Given the description of an element on the screen output the (x, y) to click on. 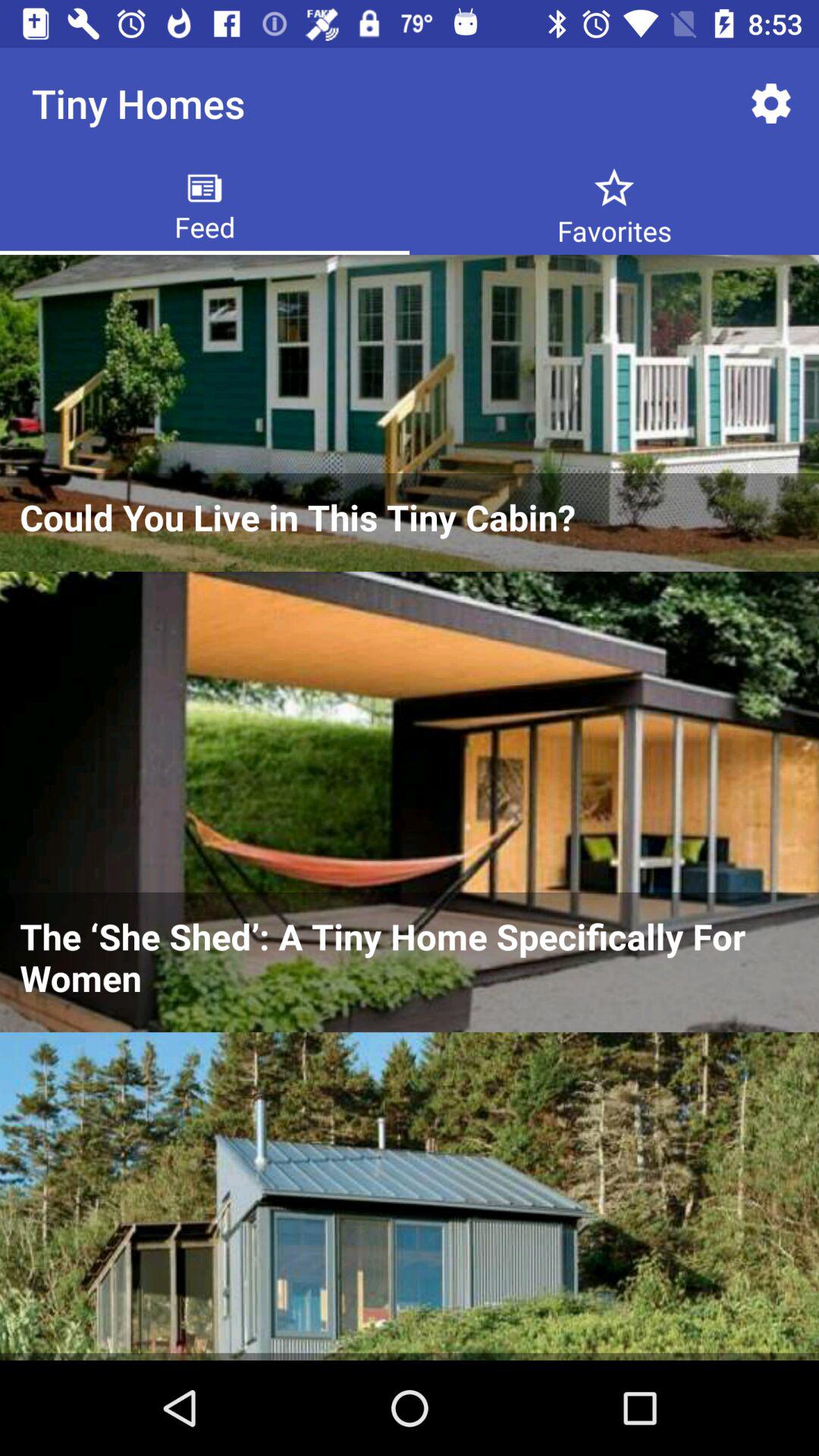
turn on item to the right of tiny homes (771, 103)
